Given the description of an element on the screen output the (x, y) to click on. 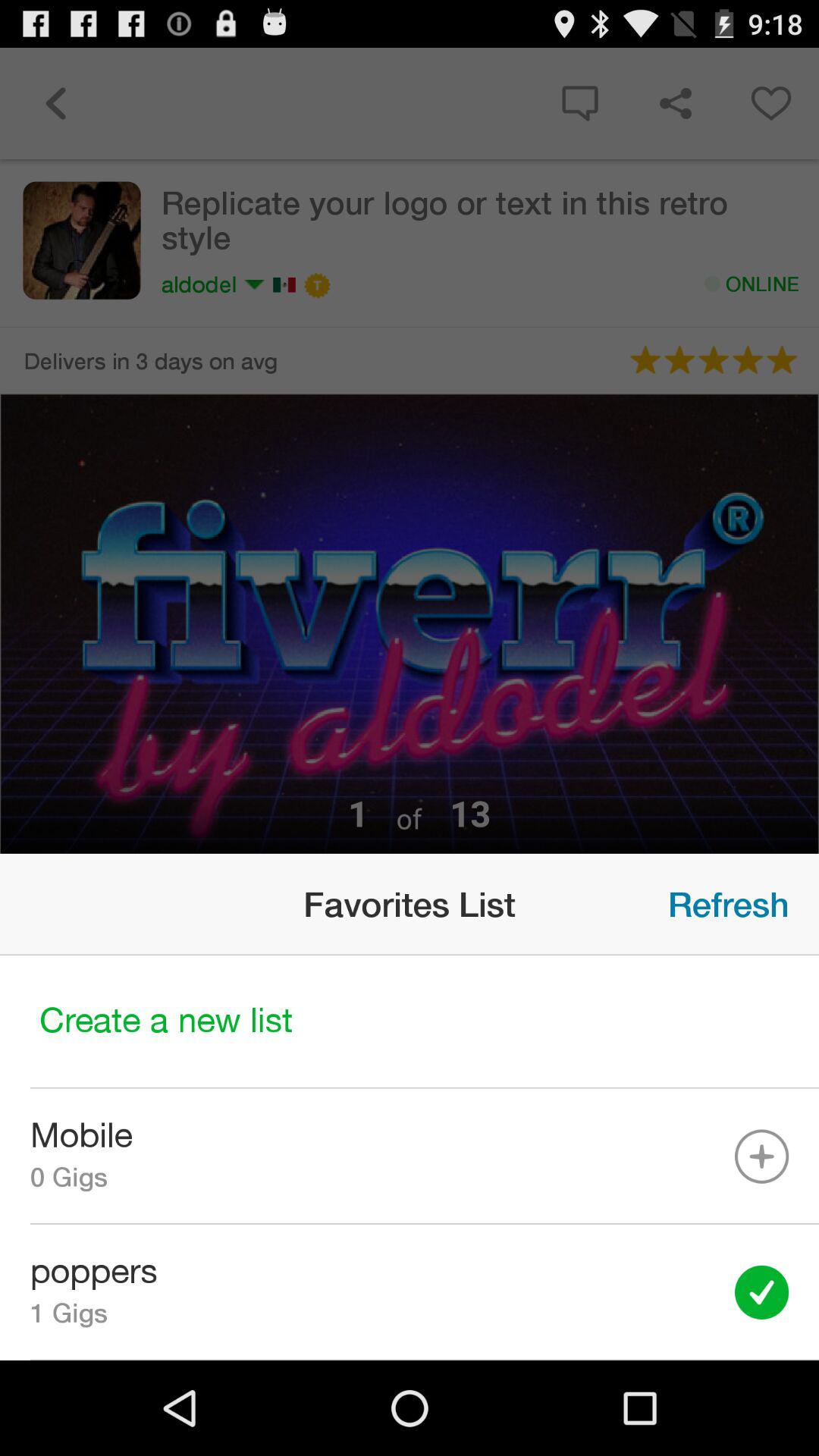
add a list (409, 1021)
